Given the description of an element on the screen output the (x, y) to click on. 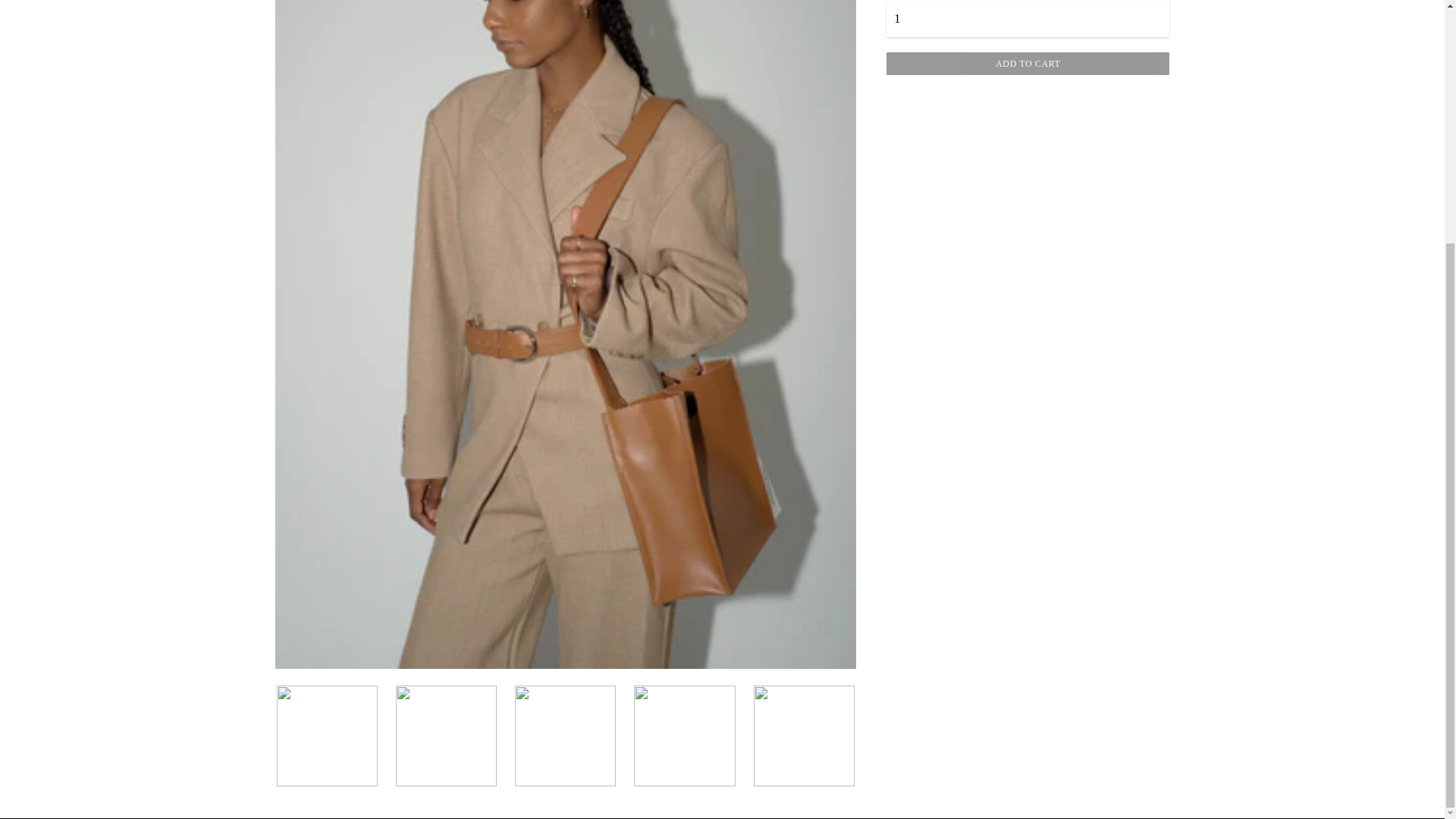
1 (1027, 18)
